Given the description of an element on the screen output the (x, y) to click on. 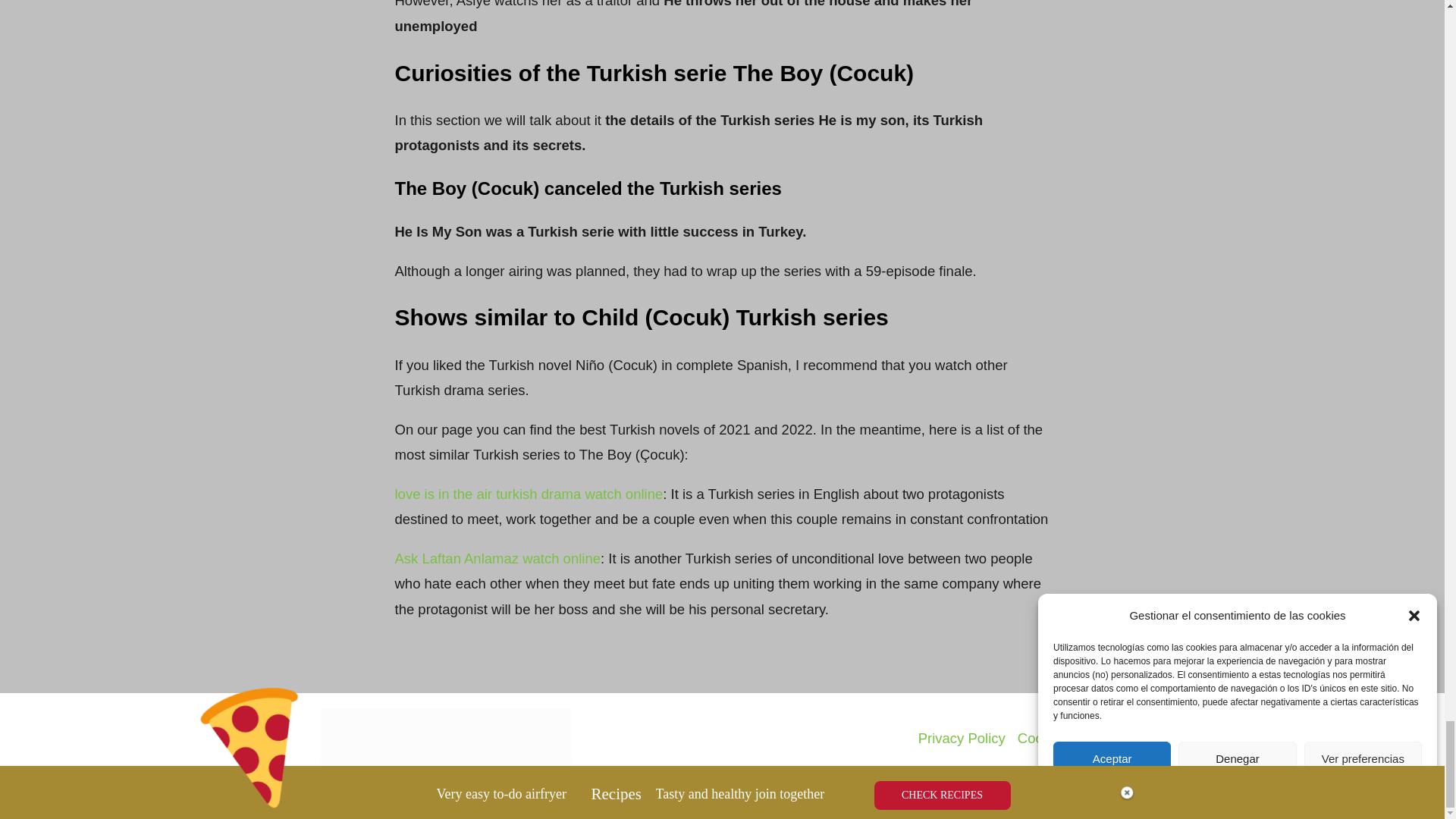
love is in the air turkish drama watch online (528, 494)
Cookies (1042, 738)
Ask Laftan Anlamaz watch online (496, 558)
Sitemap (1106, 738)
love is in the air turkish drama watch online (528, 494)
Privacy Policy (962, 738)
ask laftan anlamaz watch online (496, 558)
